Given the description of an element on the screen output the (x, y) to click on. 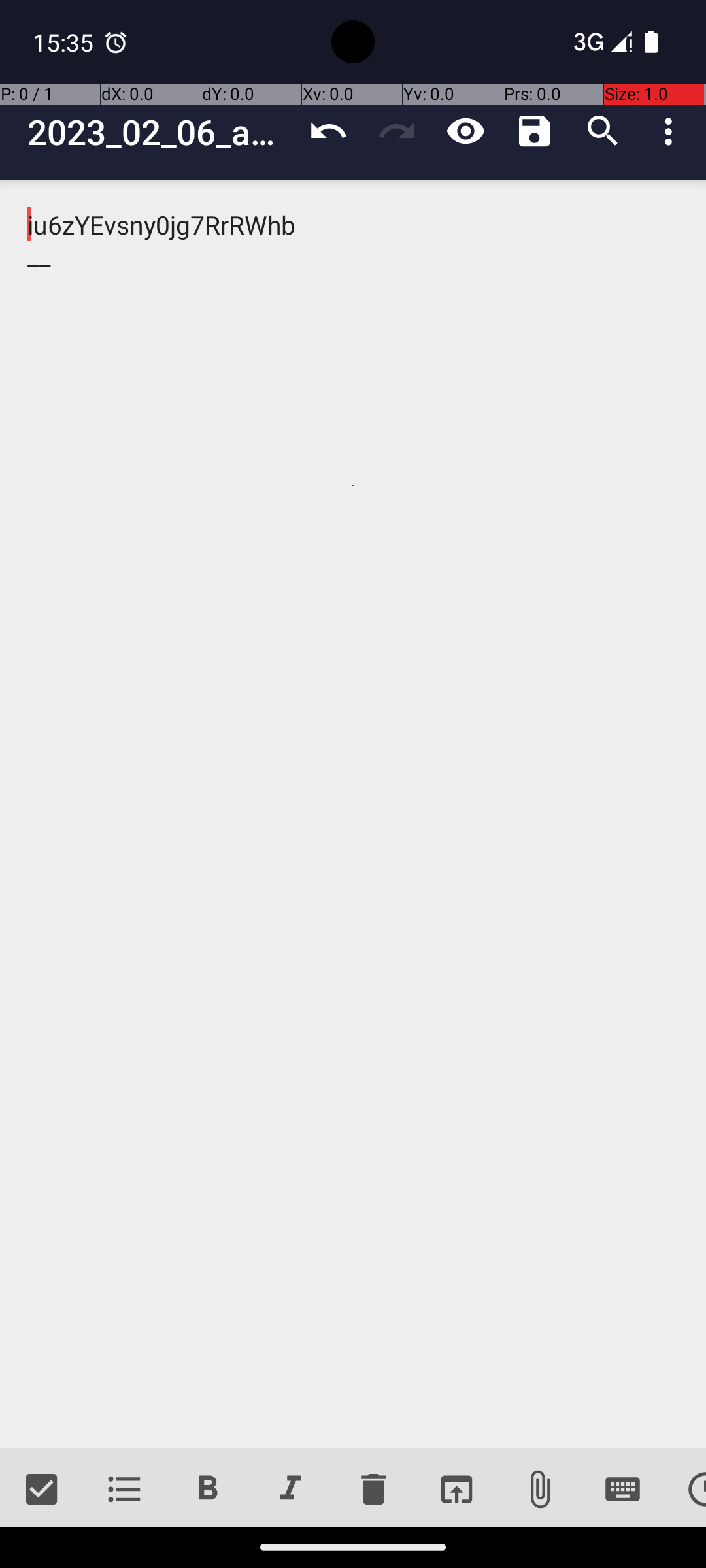
2023_02_06_april_workout_routine Element type: android.widget.TextView (160, 131)
iu6zYEvsny0jg7RrRWhb
__ Element type: android.widget.EditText (353, 813)
